Given the description of an element on the screen output the (x, y) to click on. 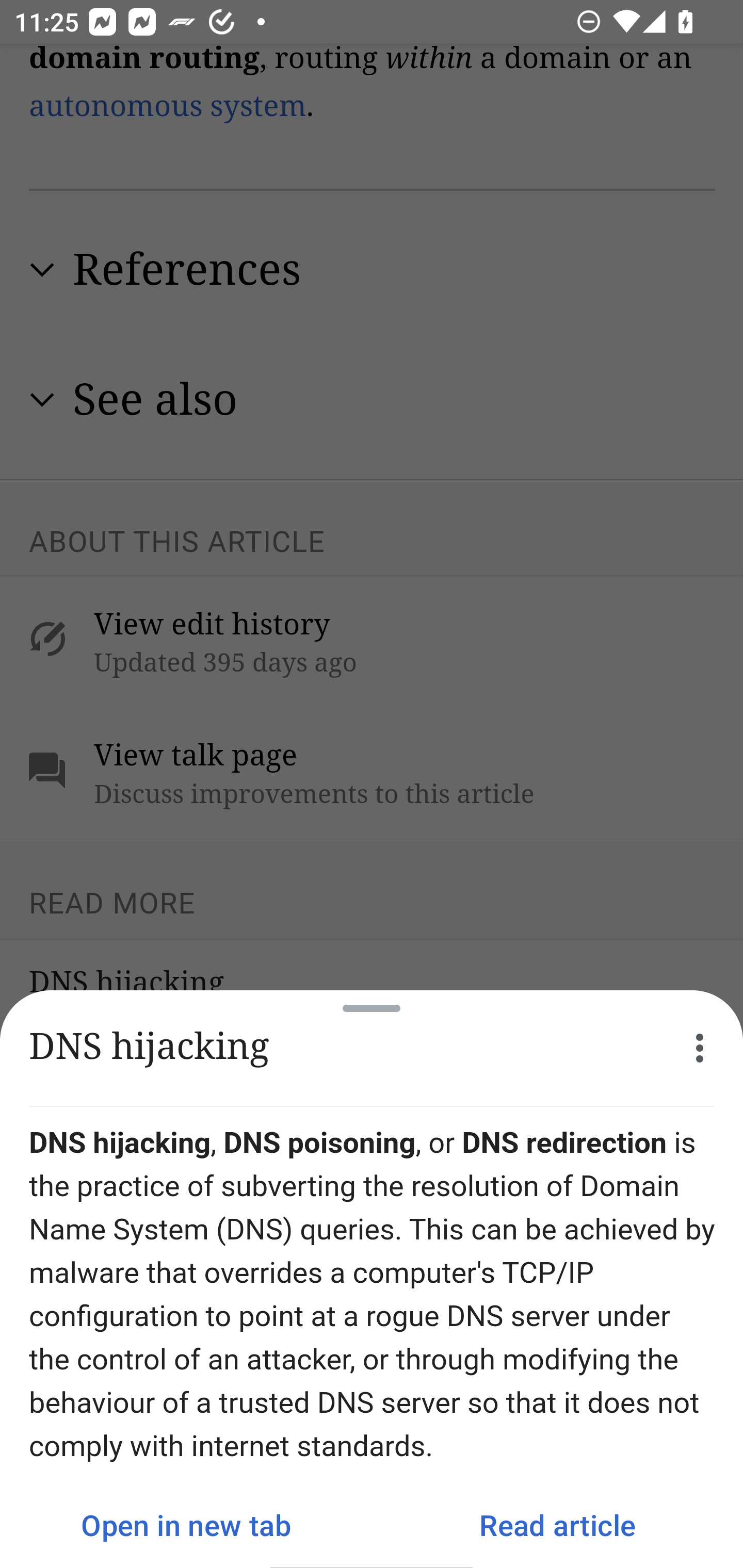
DNS hijacking More options (371, 1047)
More options (699, 1048)
Open in new tab (185, 1524)
Read article (557, 1524)
